Given the description of an element on the screen output the (x, y) to click on. 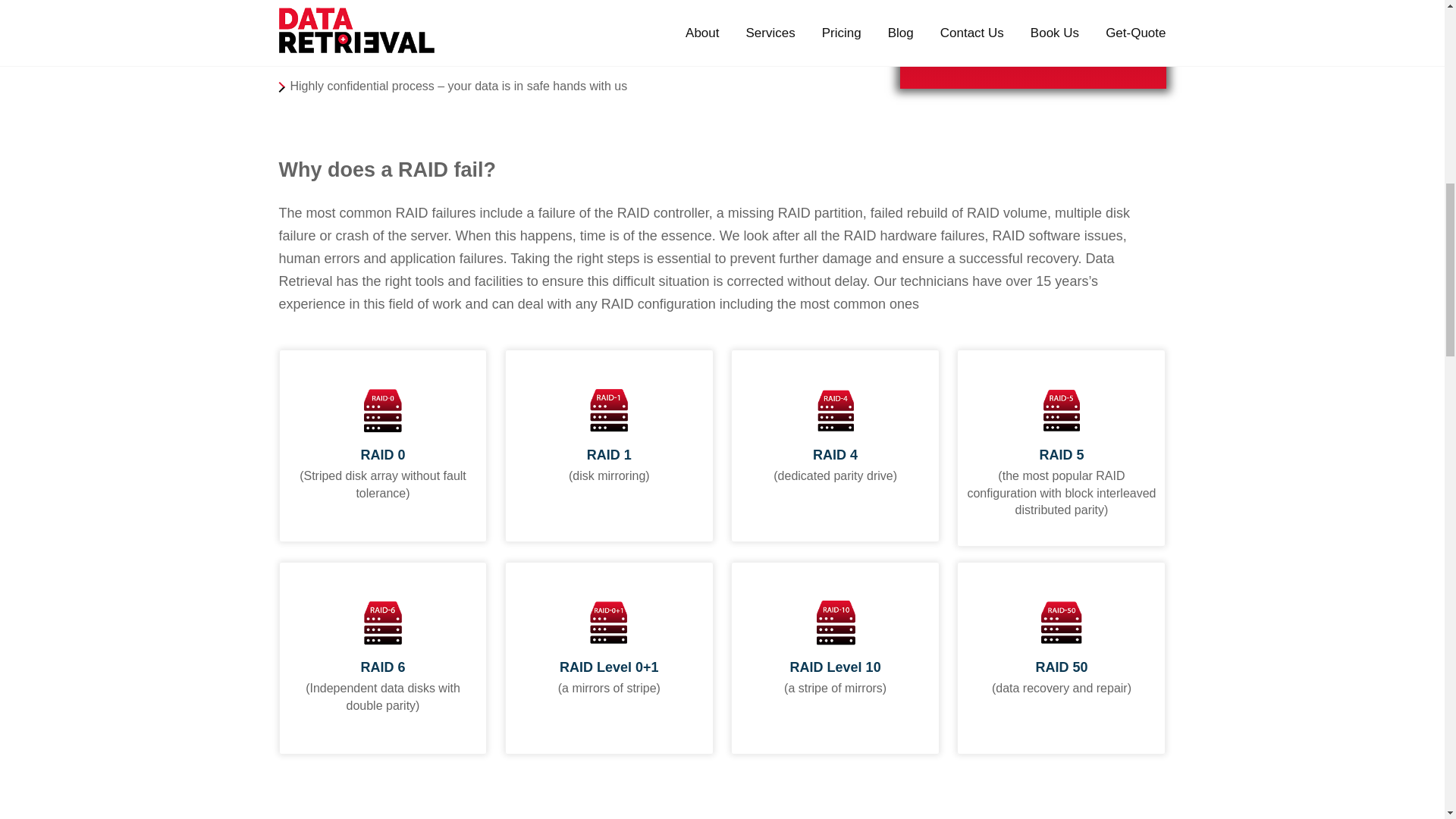
SUBMIT (975, 36)
RAID 6 (381, 667)
RAID 4 (834, 454)
RAID 50 (1061, 667)
RAID Level 10 (835, 667)
RAID 0 (381, 454)
RAID 5 (1061, 454)
SUBMIT (975, 36)
RAID 1 (608, 454)
